Given the description of an element on the screen output the (x, y) to click on. 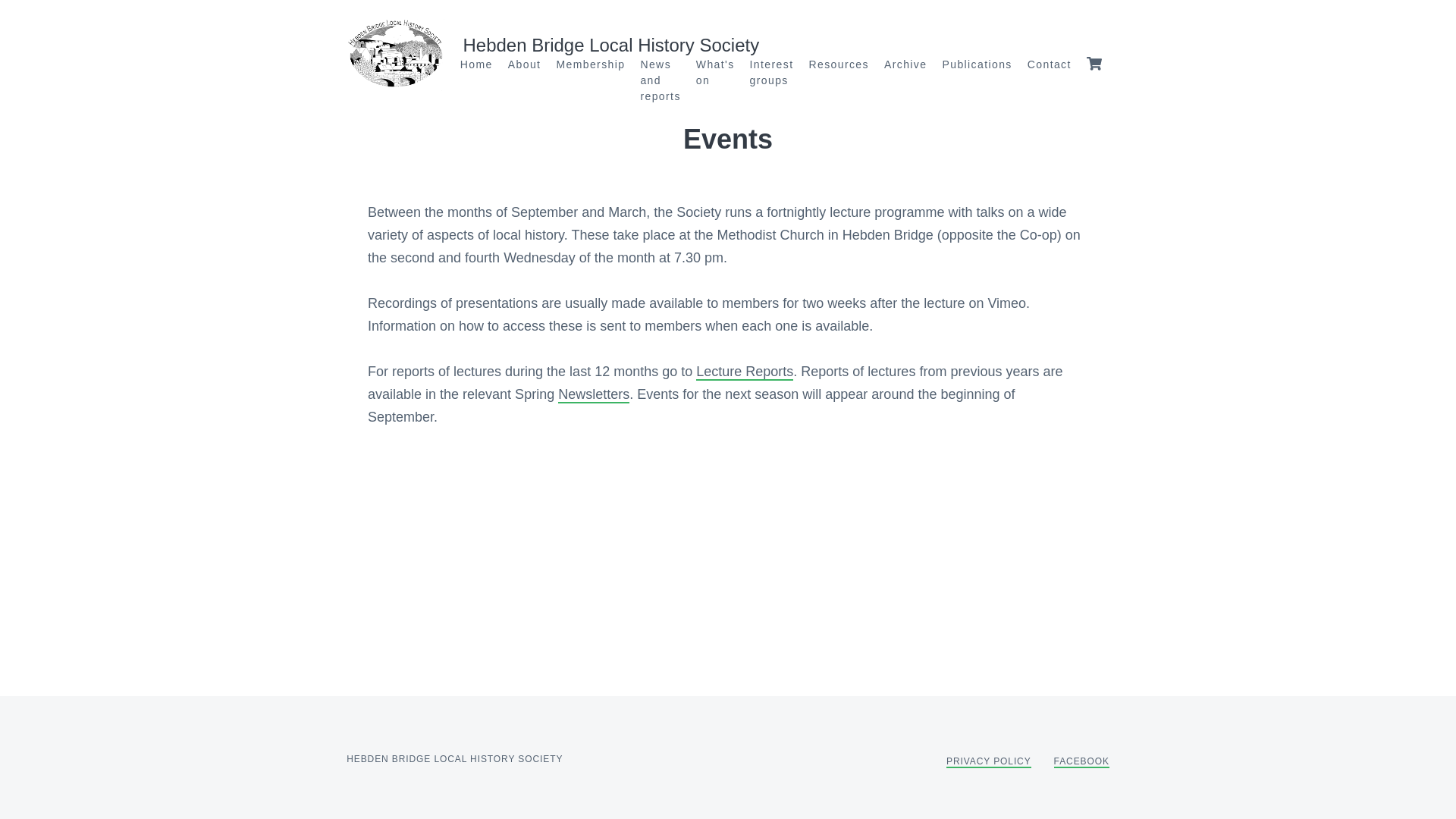
What's on (715, 72)
Membership (590, 64)
Home (476, 64)
